Given the description of an element on the screen output the (x, y) to click on. 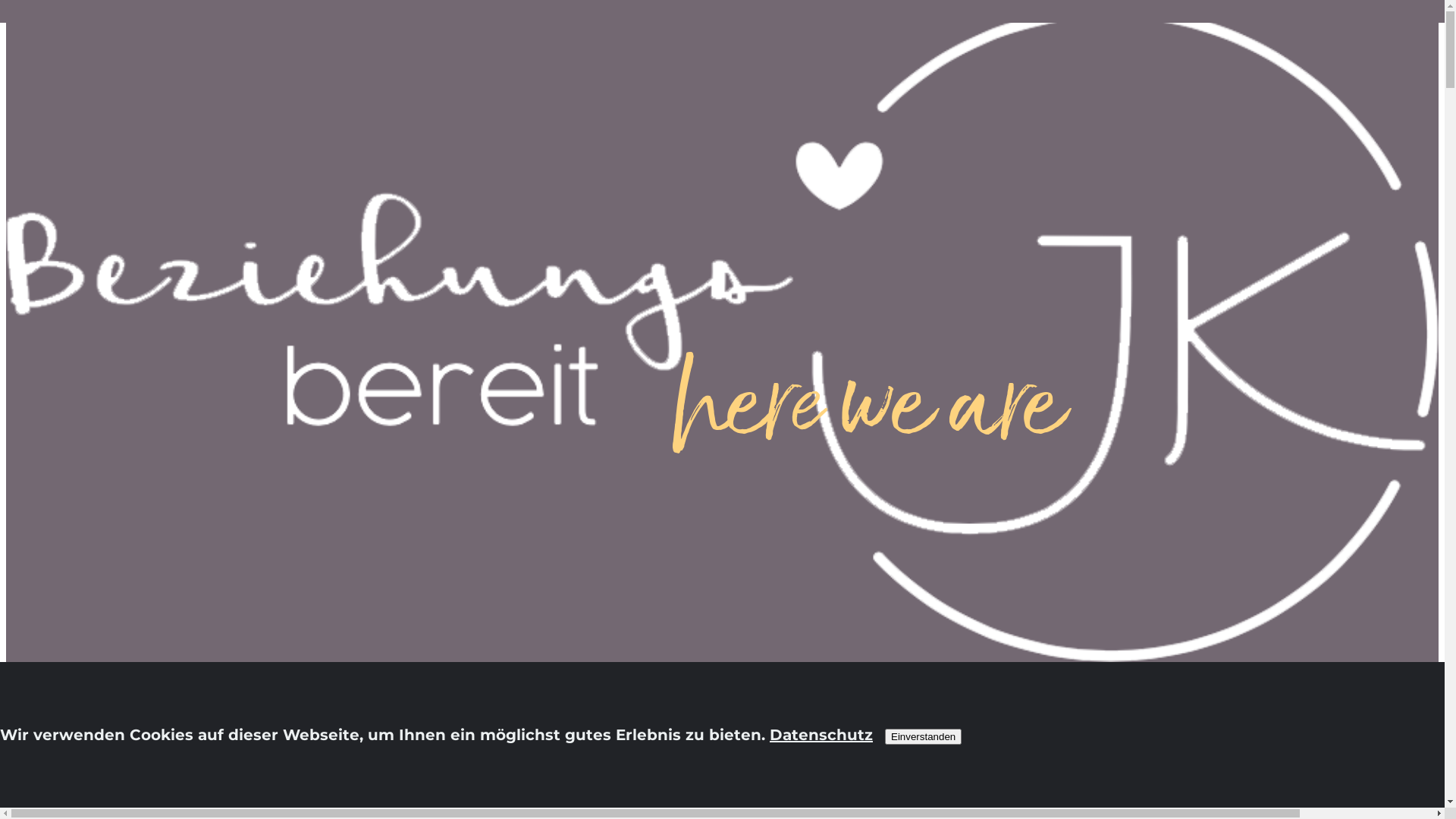
live Element type: text (48, 772)
coaching Element type: text (71, 724)
Einverstanden Element type: text (922, 736)
online Element type: text (60, 748)
Datenschutz Element type: text (820, 734)
